Given the description of an element on the screen output the (x, y) to click on. 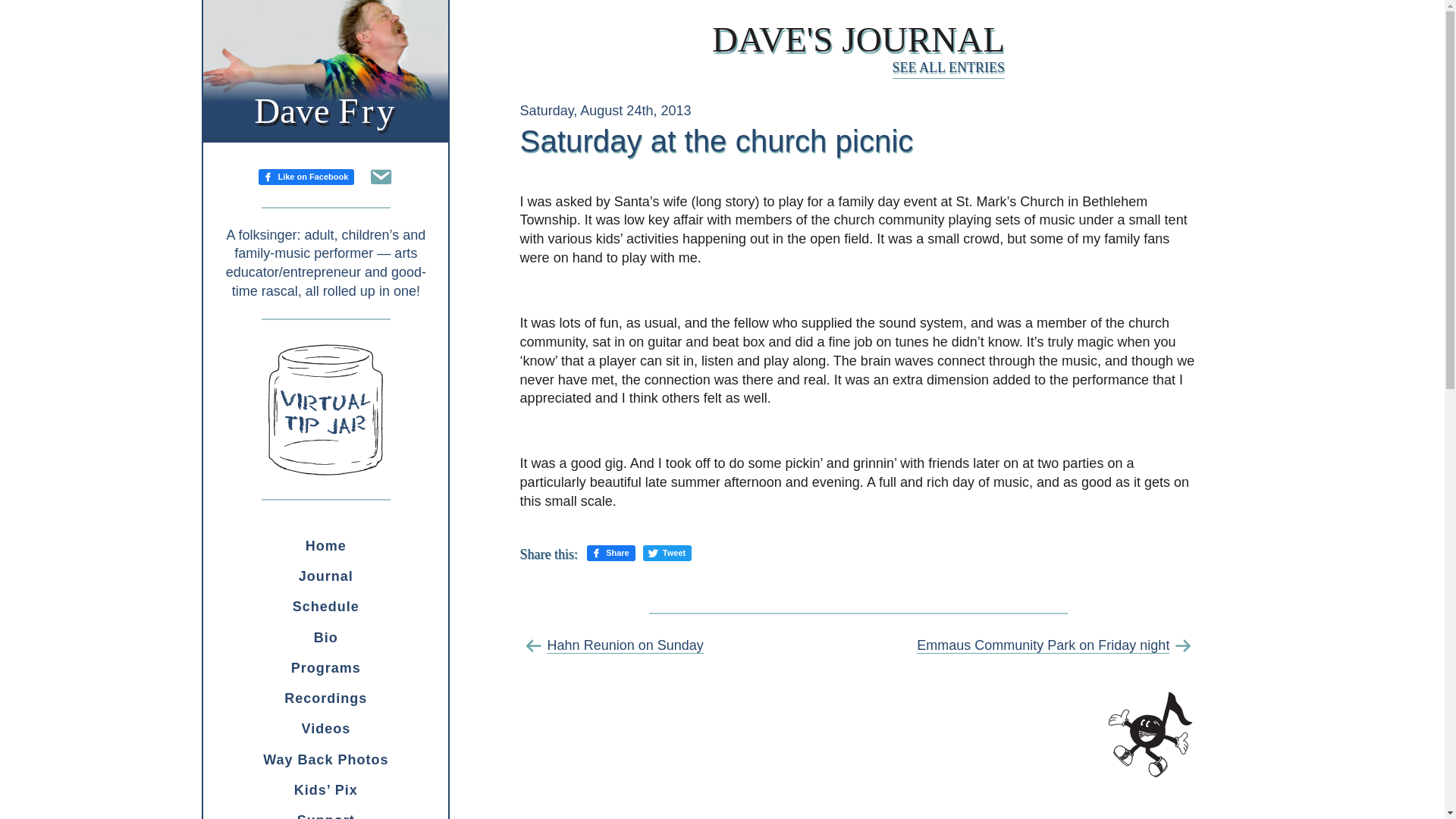
Programs (325, 667)
Support (857, 39)
Like on Facebook (325, 812)
Bio (306, 176)
Dave Fry (325, 637)
Recordings (325, 110)
Way Back Photos (325, 698)
Videos (325, 759)
Home (325, 728)
